Given the description of an element on the screen output the (x, y) to click on. 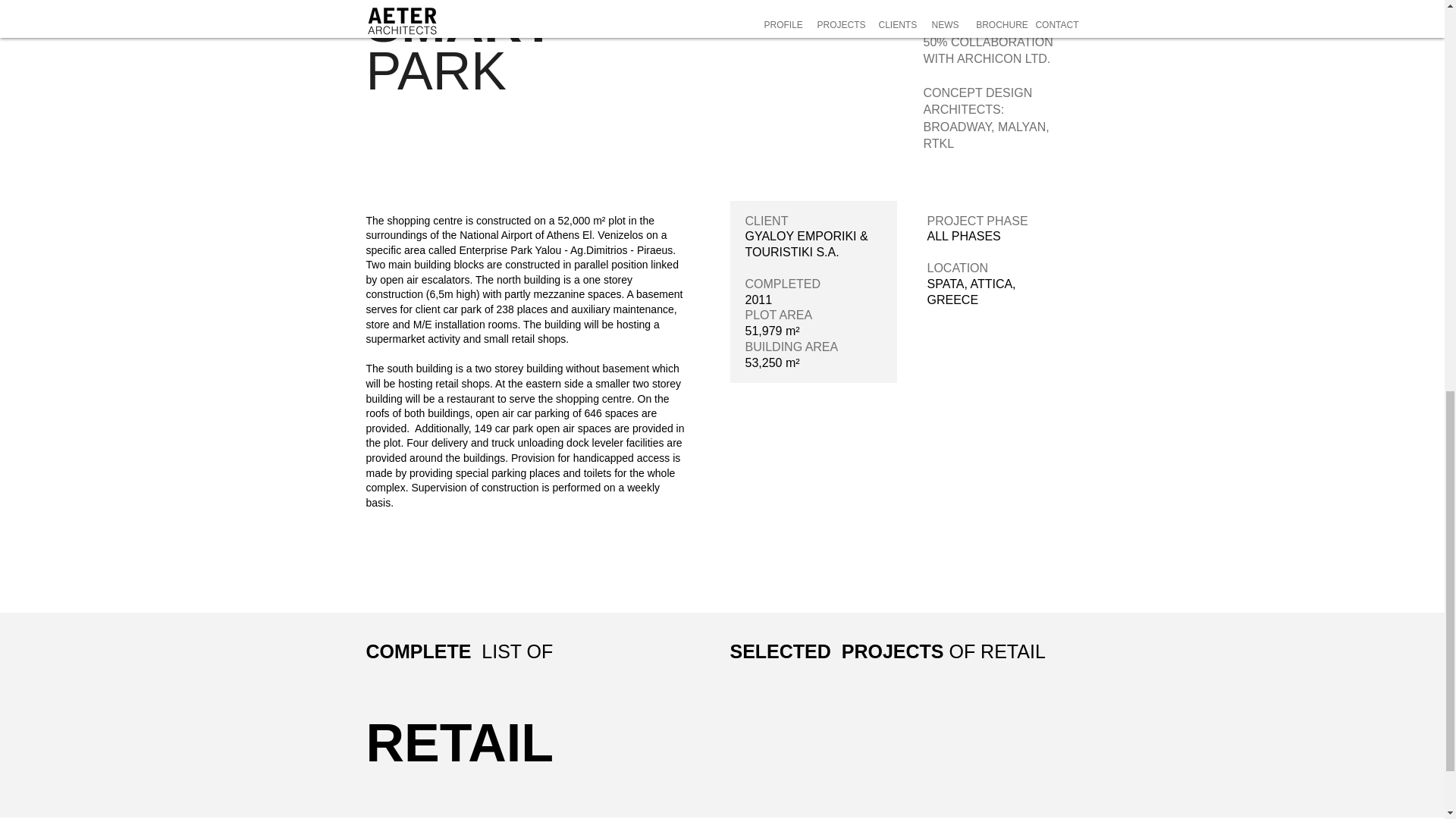
COMPLETE  LIST OF (459, 650)
